Given the description of an element on the screen output the (x, y) to click on. 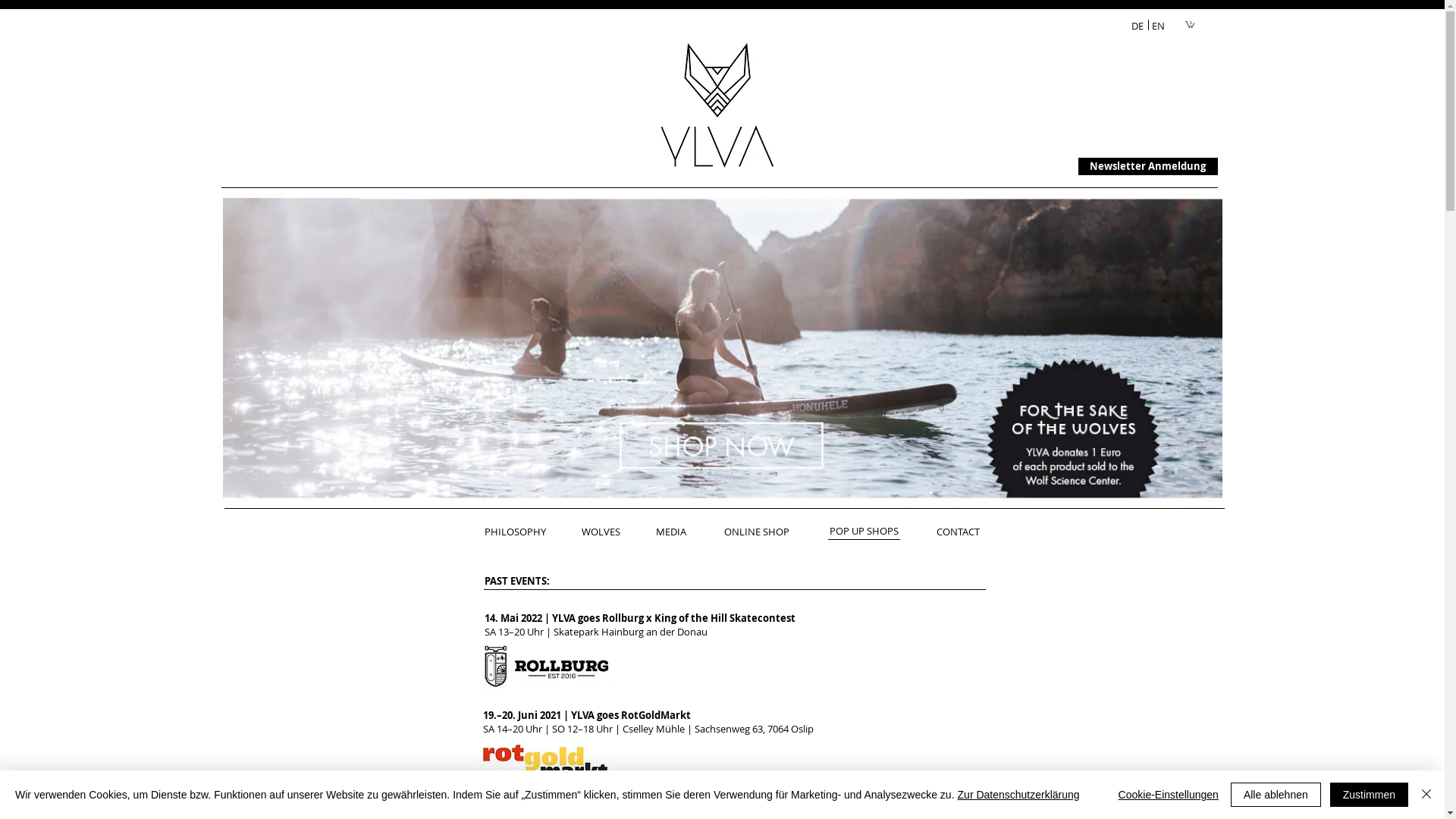
CONTACT Element type: text (958, 531)
WOLVES Element type: text (580, 531)
POP UP SHOPS Element type: text (814, 216)
PHILOSOPHY Element type: text (514, 531)
EN Element type: text (1158, 25)
MEDIA Element type: text (643, 531)
POP UP SHOPS Element type: text (863, 530)
Logo_Schrift.jpg Element type: hover (717, 105)
Strich.jpg Element type: hover (734, 589)
WOLVES Element type: text (600, 531)
0 Element type: text (1188, 24)
Zustimmen Element type: text (1369, 794)
Alle ablehnen Element type: text (1275, 794)
PHILOSOPHIE Element type: text (515, 216)
DE Element type: text (1136, 25)
MEDIA Element type: text (646, 216)
STORES Element type: text (714, 531)
ONLINE SHOP Element type: text (725, 216)
MEDIA Element type: text (671, 531)
Newsletter Anmeldung Element type: text (1147, 166)
POP UP SHOPS Element type: text (866, 531)
BLOG Element type: text (894, 216)
PHILOSOPHY Element type: text (502, 531)
ONLINE SHOP Element type: text (781, 531)
KONTAKT Element type: text (958, 216)
ONLINE SHOP Element type: text (755, 531)
